Given the description of an element on the screen output the (x, y) to click on. 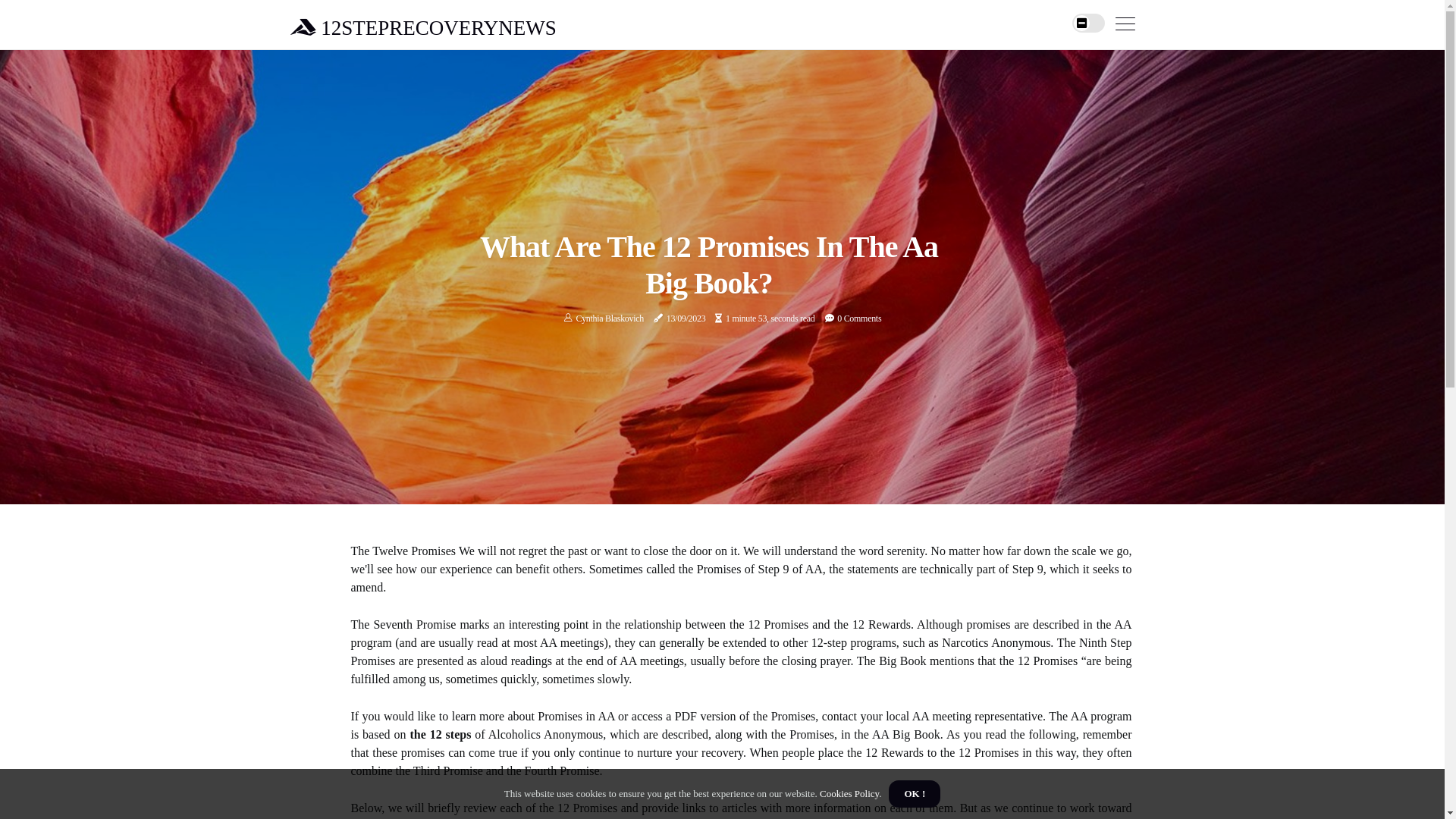
Cynthia Blaskovich Element type: text (609, 318)
12STEPRECOVERYNEWS Element type: text (422, 26)
0 Comments Element type: text (859, 318)
Cookies Policy Element type: text (848, 793)
